Given the description of an element on the screen output the (x, y) to click on. 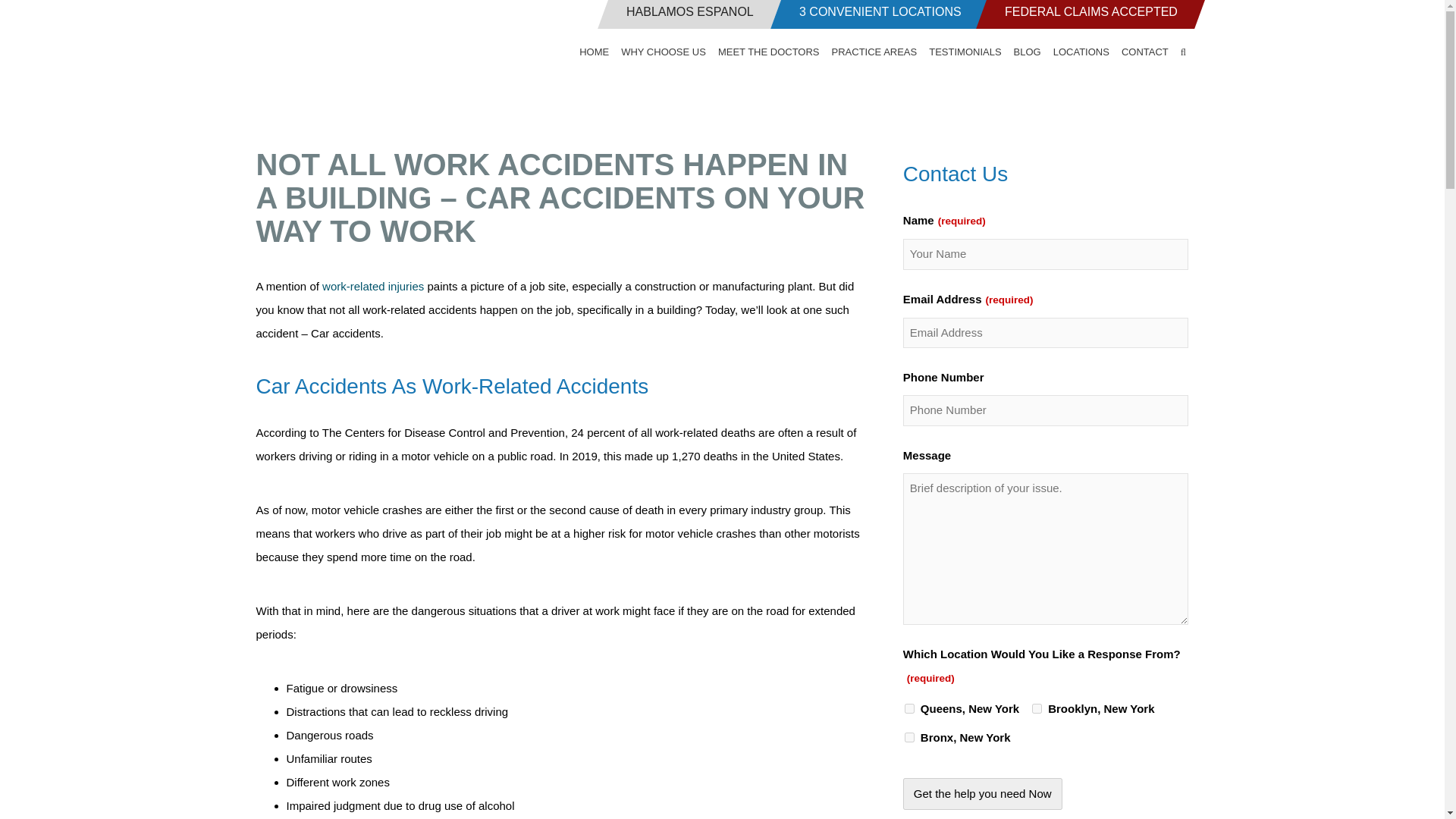
LOCATIONS (1080, 51)
BLOG (1026, 51)
TESTIMONIALS (965, 51)
FEDERAL CLAIMS ACCEPTED (1084, 14)
WHY CHOOSE US (662, 51)
Queens, New York (909, 708)
MEET THE DOCTORS (768, 51)
HOME (596, 51)
3 CONVENIENT LOCATIONS (874, 14)
PRACTICE AREAS (874, 51)
CONTACT (1144, 51)
Bronx, New York (909, 737)
Brooklyn, New York (1037, 708)
HABLAMOS ESPANOL (683, 14)
